Given the description of an element on the screen output the (x, y) to click on. 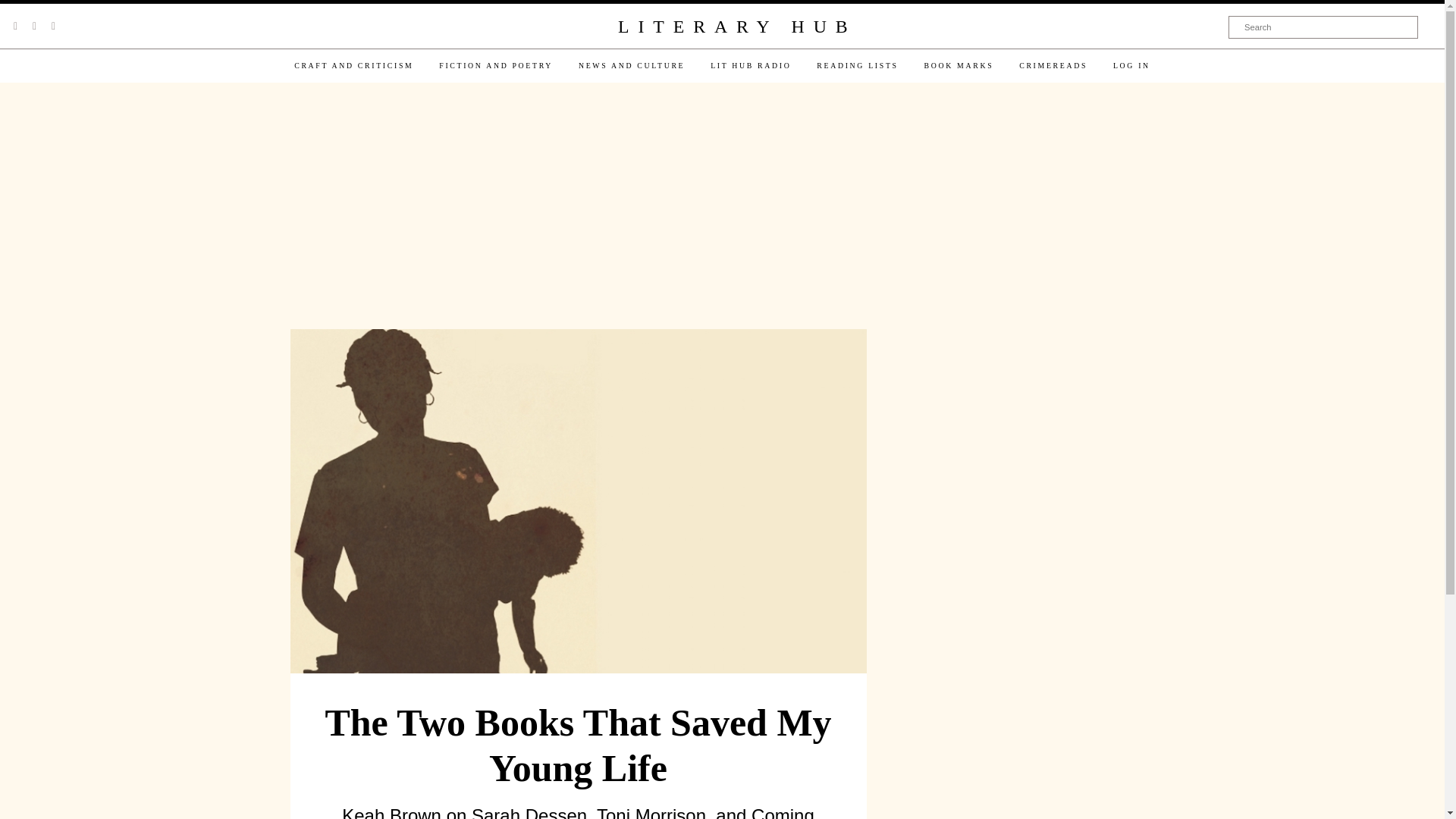
CRAFT AND CRITICISM (353, 65)
LITERARY HUB (736, 26)
FICTION AND POETRY (496, 65)
Search (1323, 26)
NEWS AND CULTURE (631, 65)
